Given the description of an element on the screen output the (x, y) to click on. 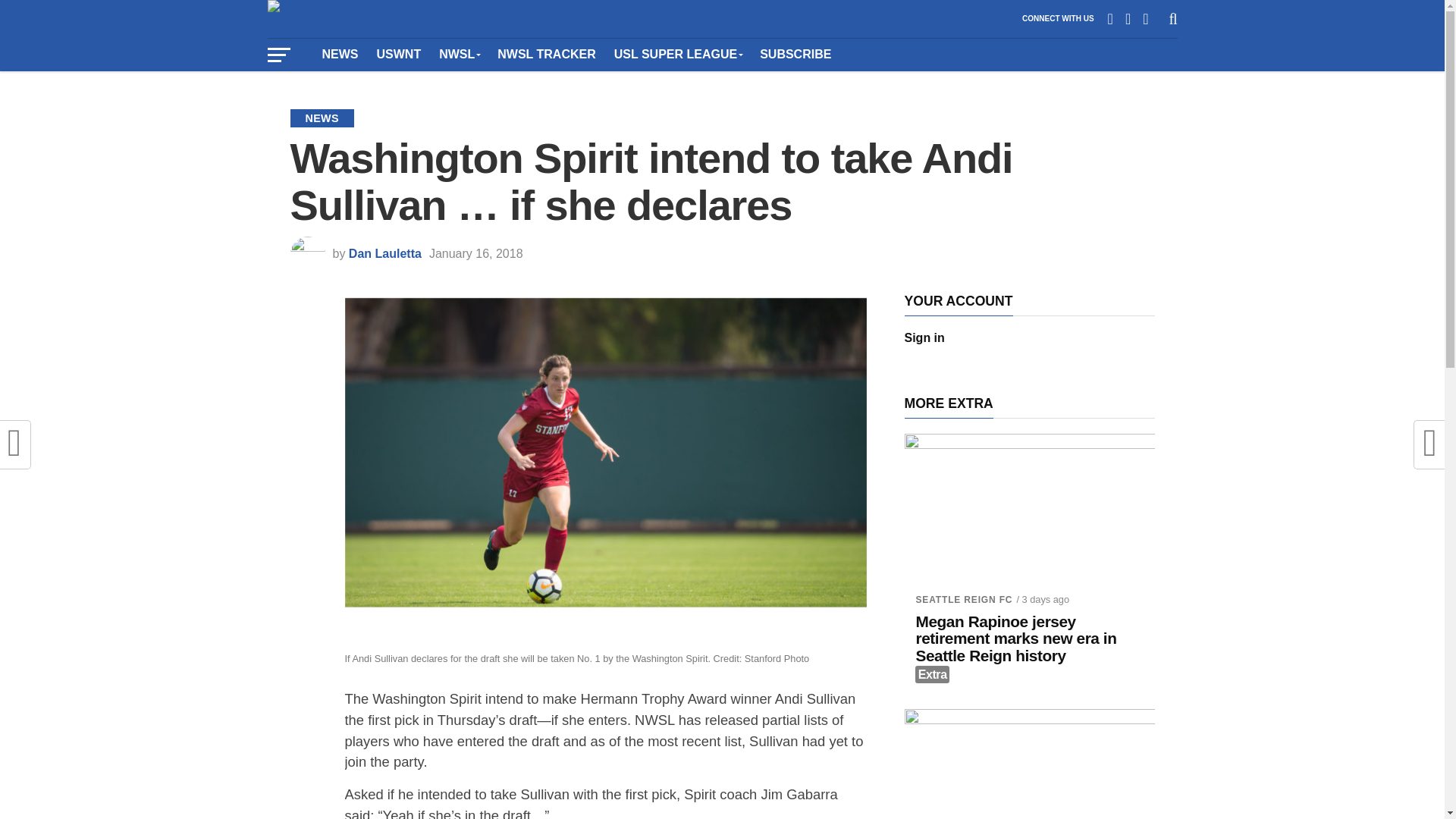
NEWS (339, 54)
NWSL (458, 54)
USWNT (397, 54)
Posts by Dan Lauletta (385, 253)
